Given the description of an element on the screen output the (x, y) to click on. 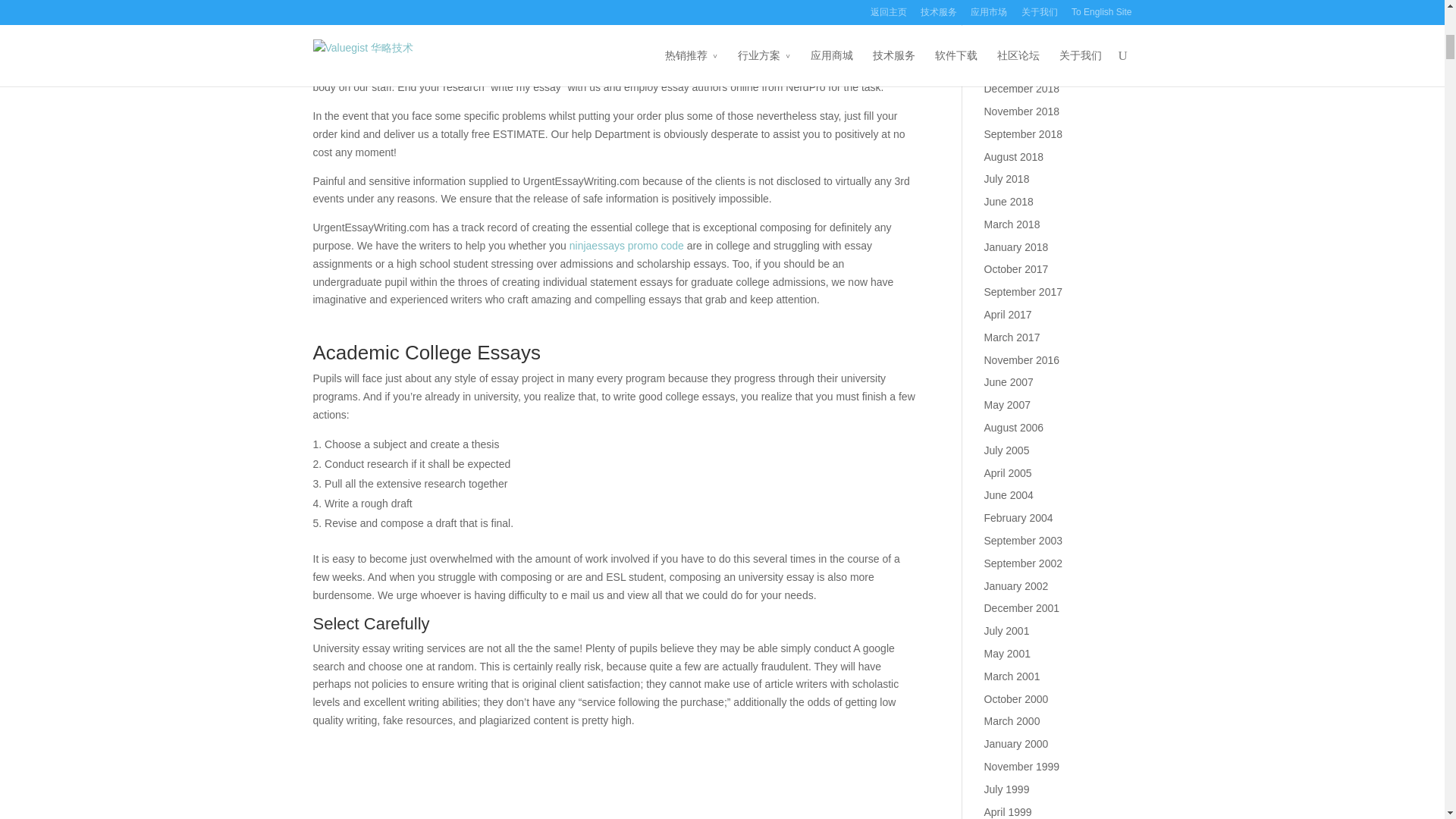
April 2019 (1008, 2)
ninjaessays promo code (626, 245)
March 2019 (1012, 21)
